Given the description of an element on the screen output the (x, y) to click on. 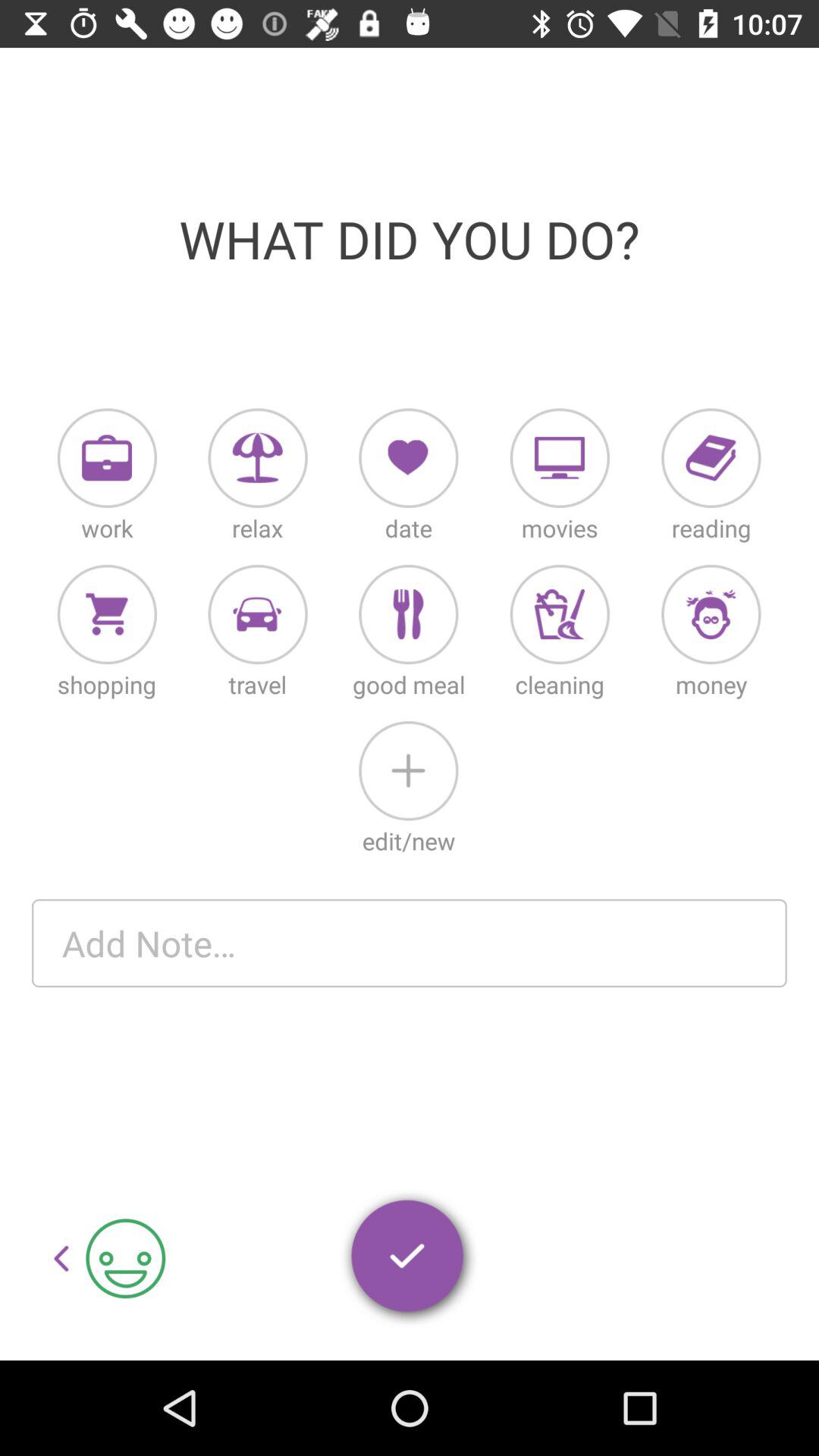
finished (408, 1258)
